Given the description of an element on the screen output the (x, y) to click on. 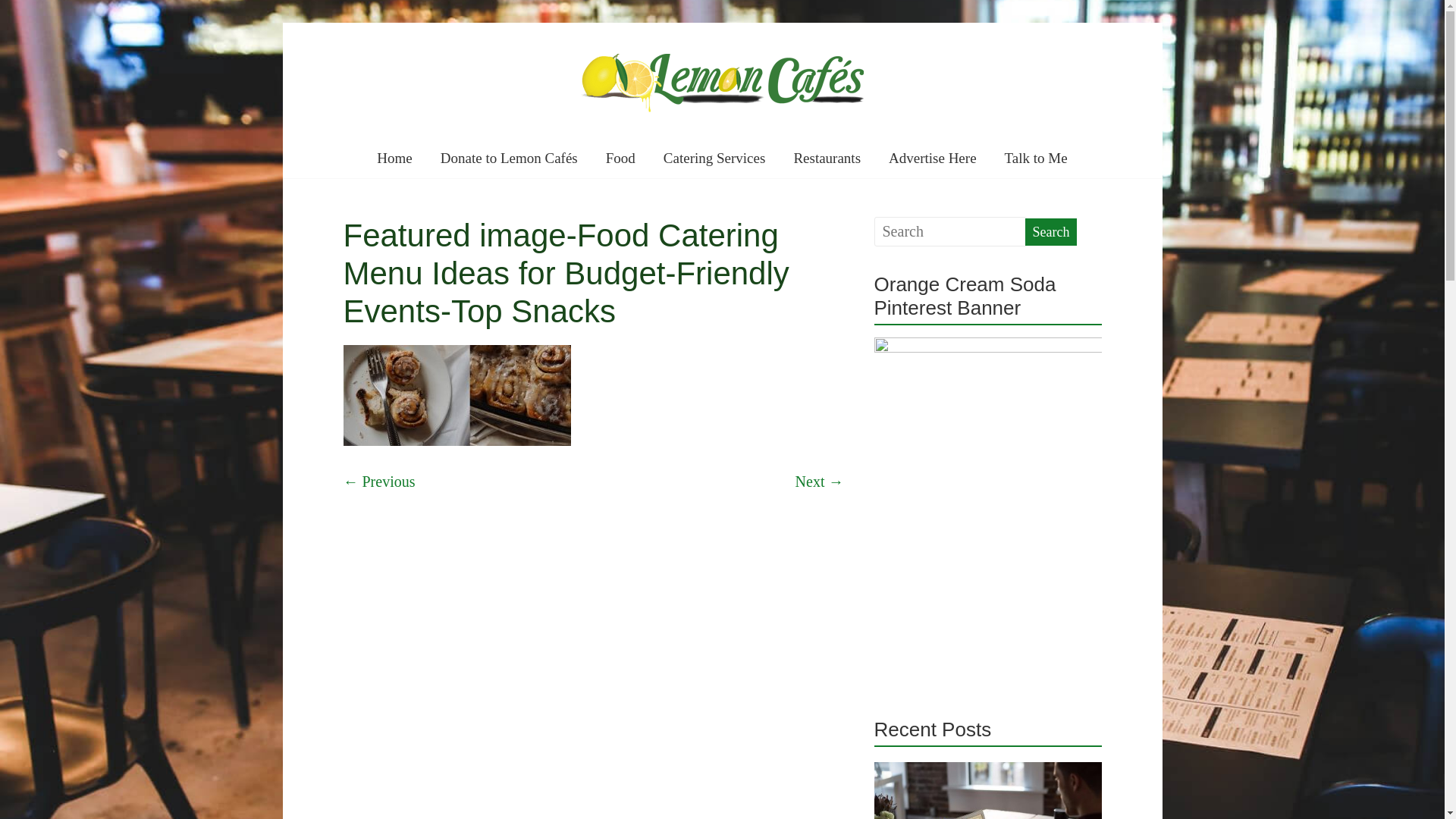
Advertise Here Element type: text (932, 158)
Talk to Me Element type: text (1035, 158)
Catering Services Element type: text (714, 158)
Restaurants Element type: text (826, 158)
Food Element type: text (620, 158)
Search Element type: text (1051, 231)
Skip to content Element type: text (282, 21)
Home Element type: text (393, 158)
